Given the description of an element on the screen output the (x, y) to click on. 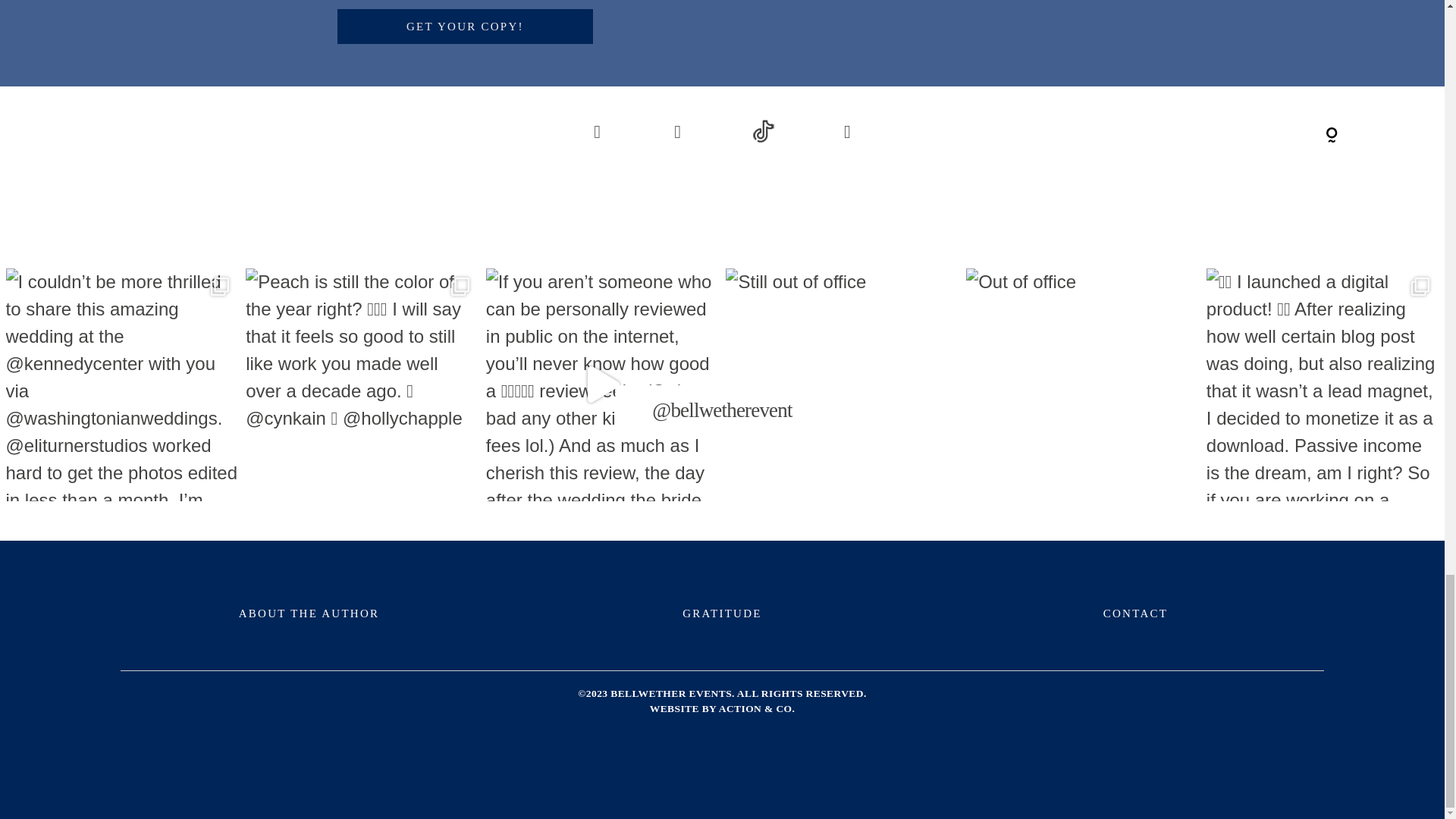
CONTACT (1135, 613)
GRATITUDE (721, 613)
BELLWETHER EVENTS (671, 693)
GET YOUR COPY! (465, 26)
Sorry, your browser does not support inline SVG. (1331, 135)
Sorry, your browser does not support inline SVG. (1135, 132)
ABOUT THE AUTHOR (308, 613)
